Given the description of an element on the screen output the (x, y) to click on. 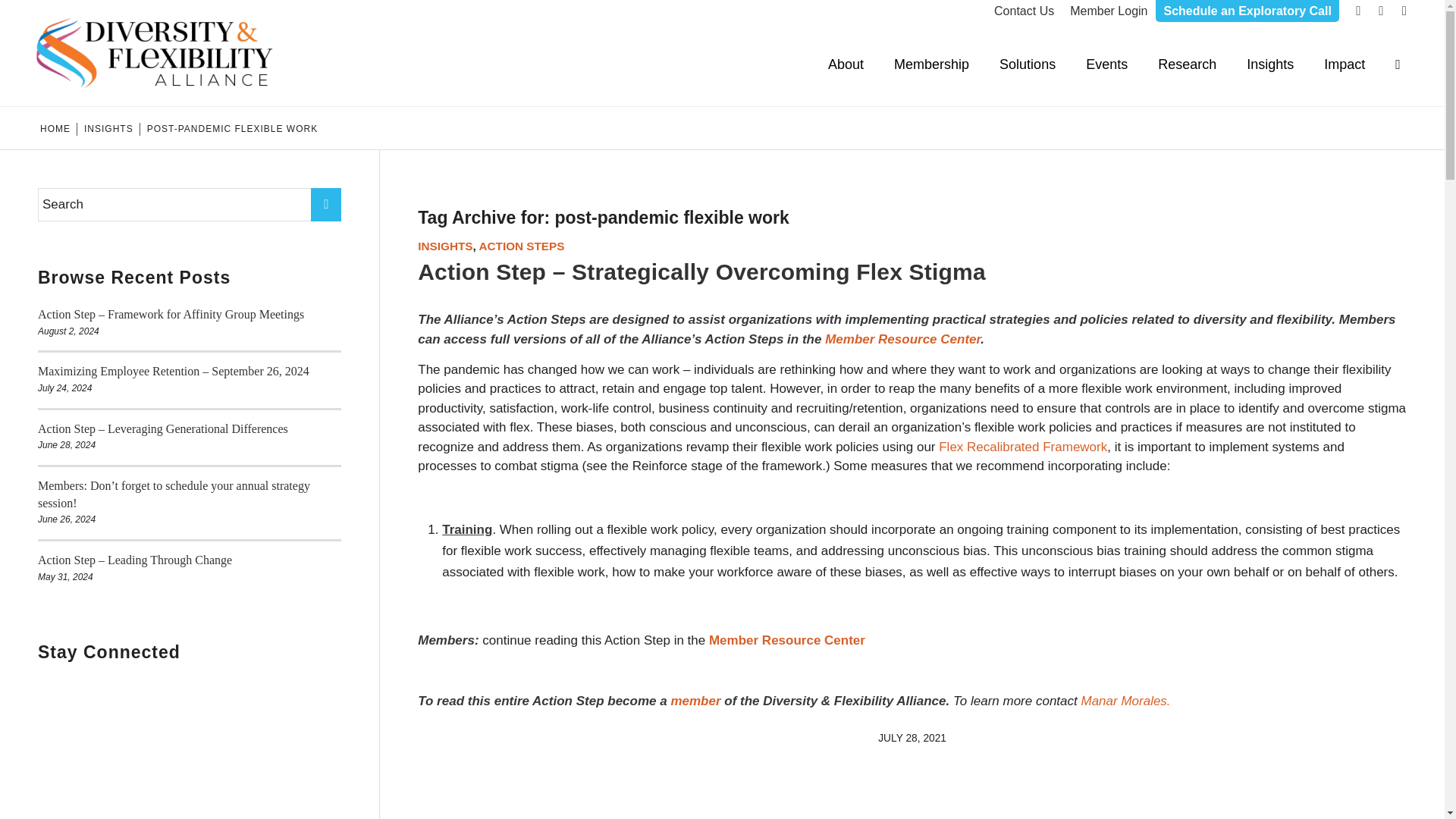
Schedule an Exploratory Call (1246, 11)
Diversity and Flexibility Alliance (54, 128)
LinkedIn (1404, 11)
Diversity-and-Flexibility-Alliance-Logo-260 (156, 53)
Contact Us (1024, 11)
Insights (108, 128)
Member Login (1108, 11)
Research (1186, 64)
Facebook (1380, 11)
Solutions (1027, 64)
Insights (1269, 64)
Diversity-and-Flexibility-Alliance-Logo-260 (156, 53)
Membership (931, 64)
Twitter (1359, 11)
